Given the description of an element on the screen output the (x, y) to click on. 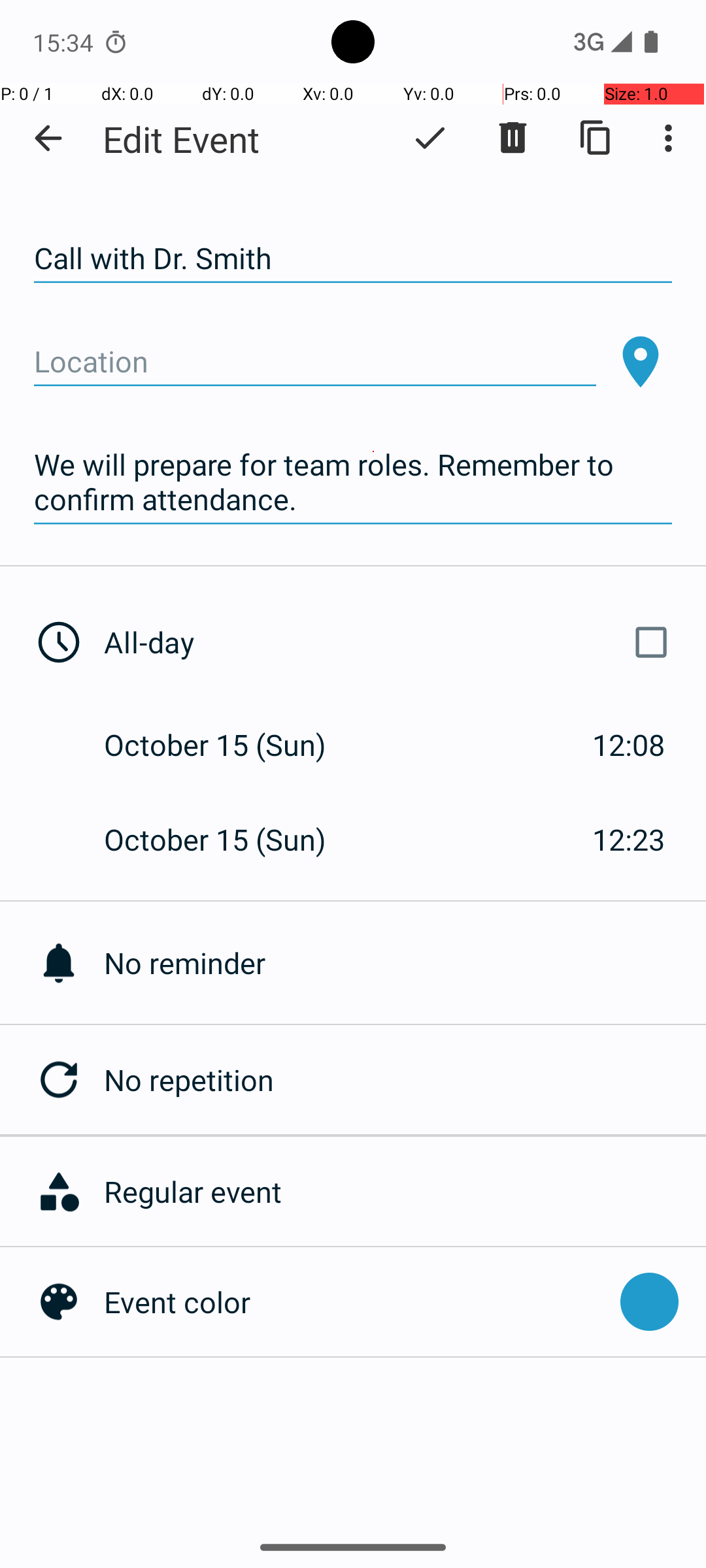
We will prepare for team roles. Remember to confirm attendance. Element type: android.widget.EditText (352, 482)
12:08 Element type: android.widget.TextView (628, 744)
12:23 Element type: android.widget.TextView (628, 838)
